Given the description of an element on the screen output the (x, y) to click on. 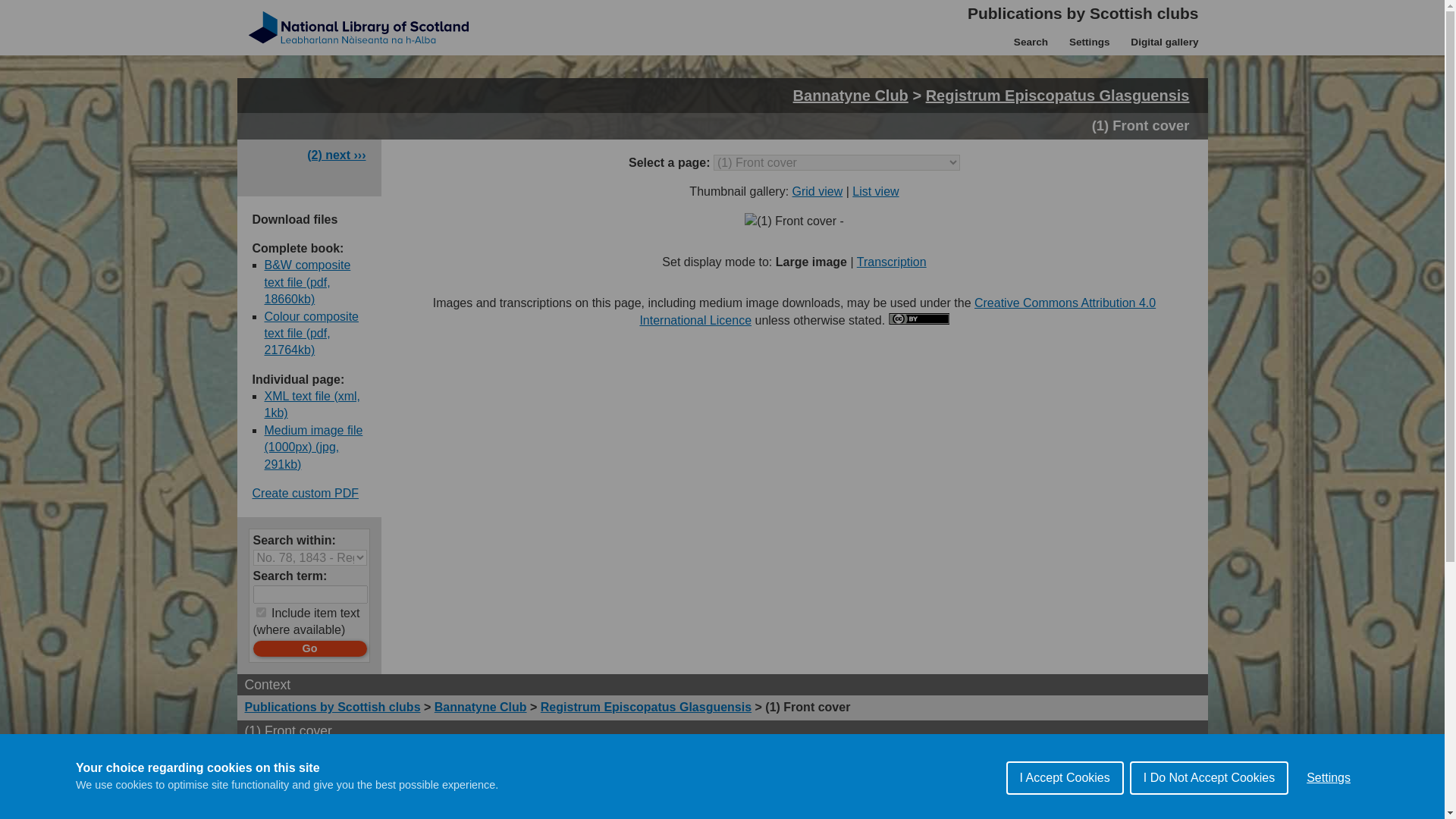
Digital gallery (1164, 44)
Grid view (817, 191)
on (261, 612)
Bannatyne Club (480, 707)
Go (309, 647)
Publications by Scottish clubs (1083, 11)
Creative Commons Attribution 4.0 International Licence (897, 310)
Transcription (891, 261)
Settings (1089, 44)
Go (309, 647)
Bannatyne Club (850, 95)
View a gallery of thumbnail images in a simple grid view. (817, 191)
Registrum Episcopatus Glasguensis (1057, 95)
Registrum Episcopatus Glasguensis (645, 707)
